Given the description of an element on the screen output the (x, y) to click on. 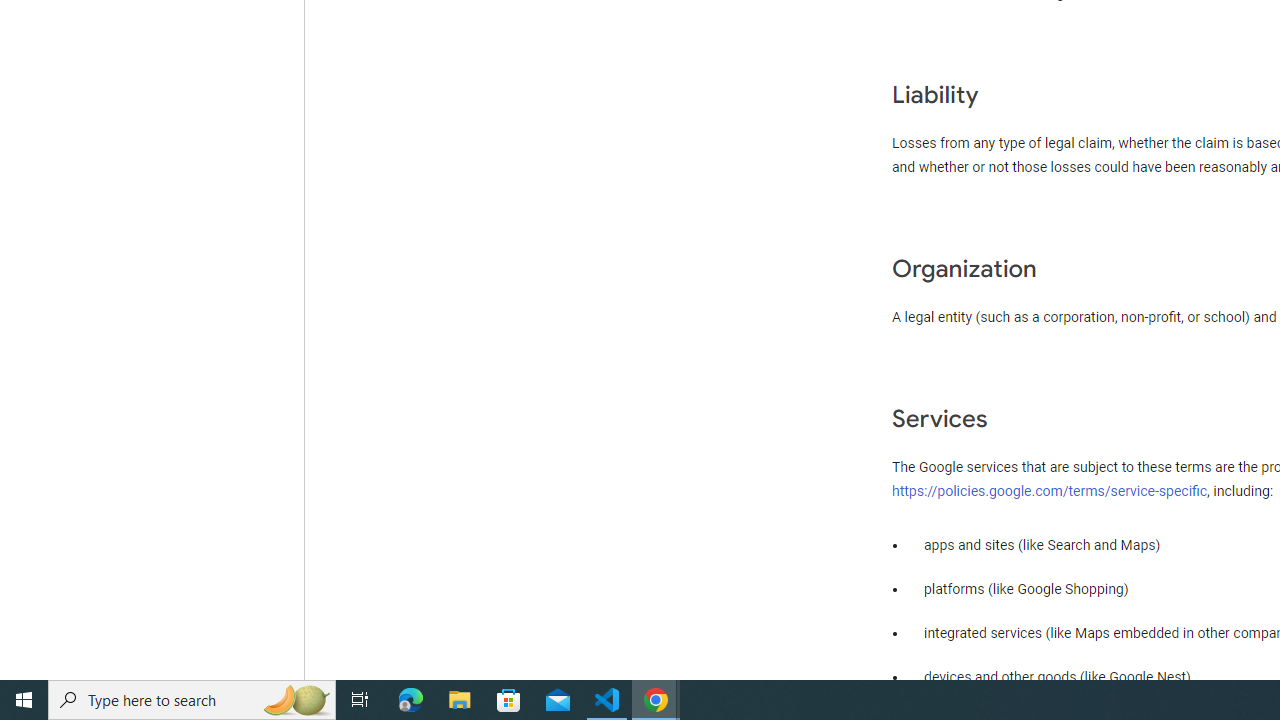
https://policies.google.com/terms/service-specific (1050, 490)
